Given the description of an element on the screen output the (x, y) to click on. 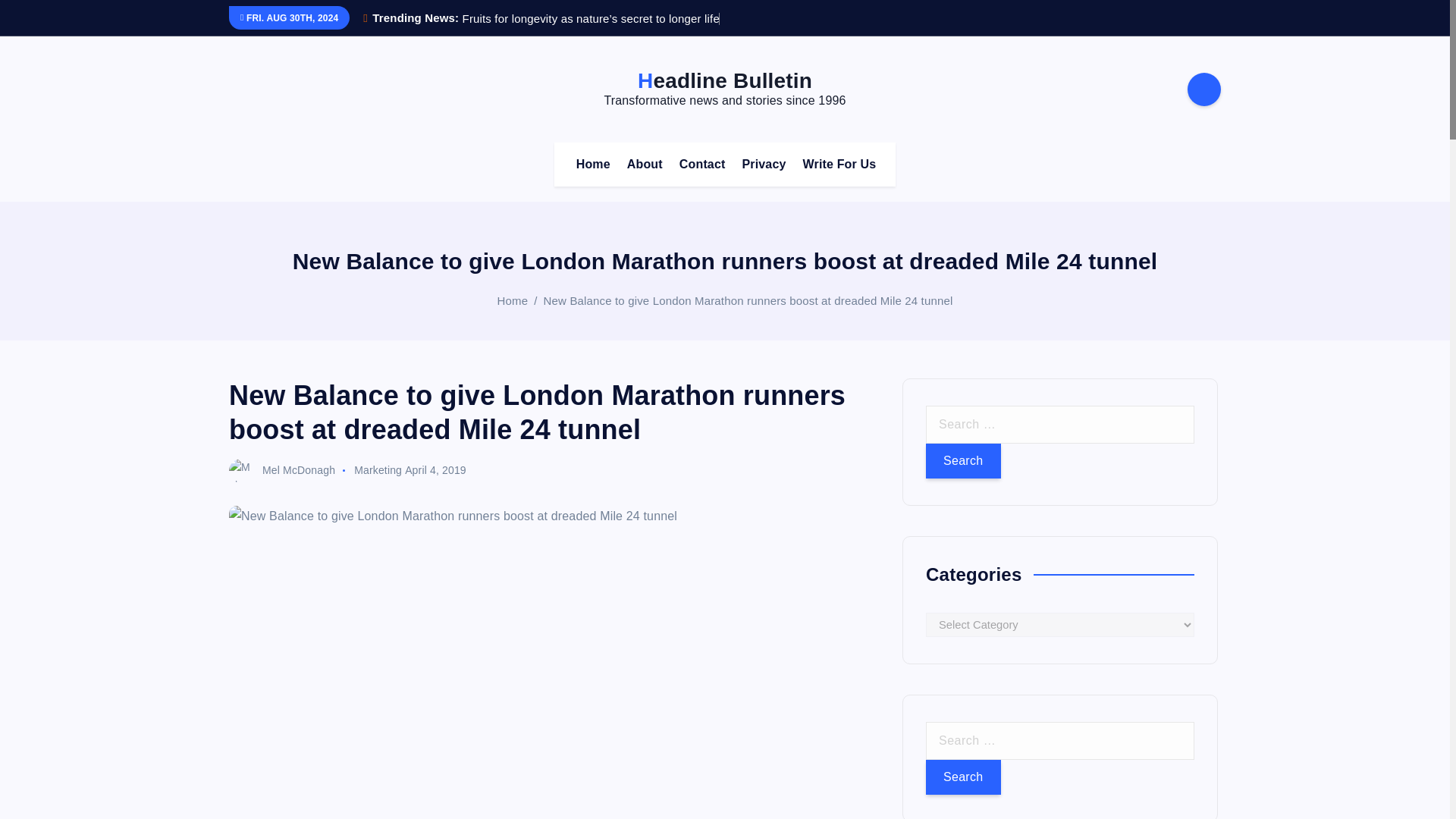
Home (593, 164)
Privacy (763, 164)
Search (963, 460)
Search (963, 460)
Headline Bulletin (724, 80)
Home (512, 300)
Home (593, 164)
Search (963, 777)
Search (963, 777)
